Given the description of an element on the screen output the (x, y) to click on. 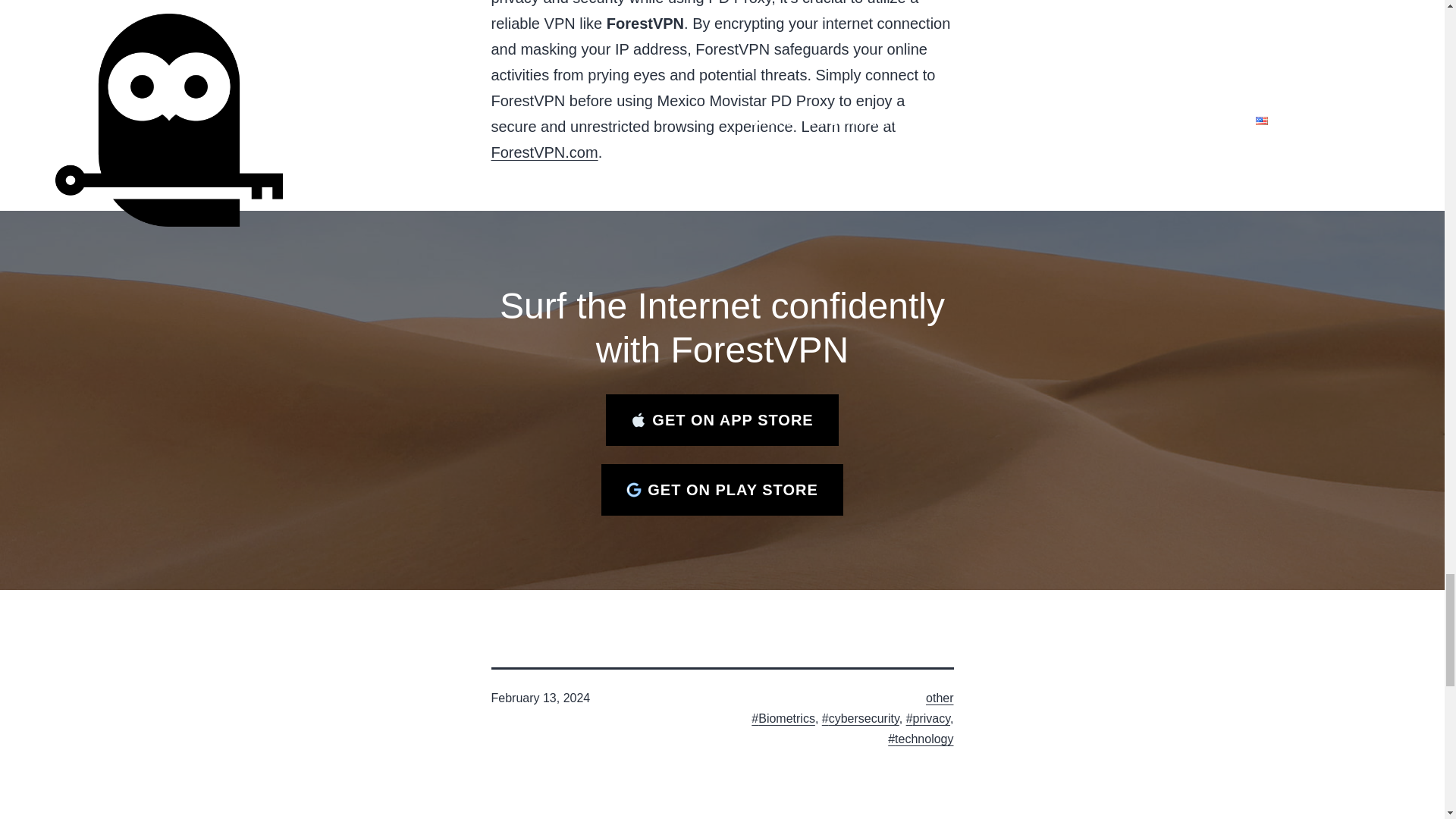
cybersecurity (860, 717)
Biometrics (783, 717)
technology (920, 738)
GET ON APP STORE (721, 419)
other (939, 697)
ForestVPN.com (545, 152)
GET ON PLAY STORE (722, 489)
privacy (927, 717)
